Given the description of an element on the screen output the (x, y) to click on. 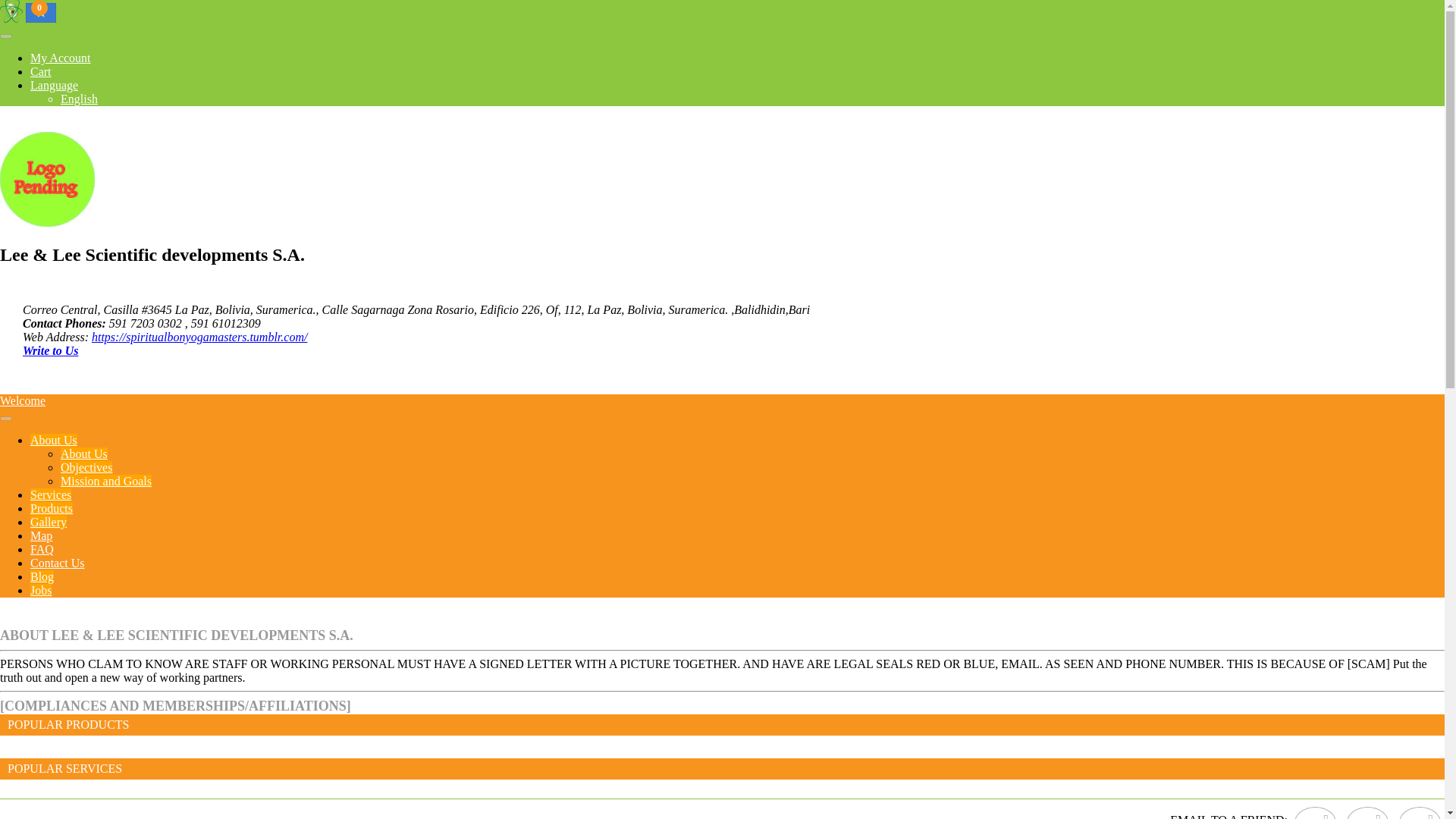
My Account (60, 57)
Products (51, 508)
Write to Us (50, 350)
Blog (41, 576)
Services (50, 494)
FAQ (41, 549)
Objectives (86, 467)
Contact Us (57, 562)
Welcome (22, 400)
English (40, 71)
Language (79, 98)
Map (54, 84)
Gallery (41, 535)
About Us (48, 521)
